Given the description of an element on the screen output the (x, y) to click on. 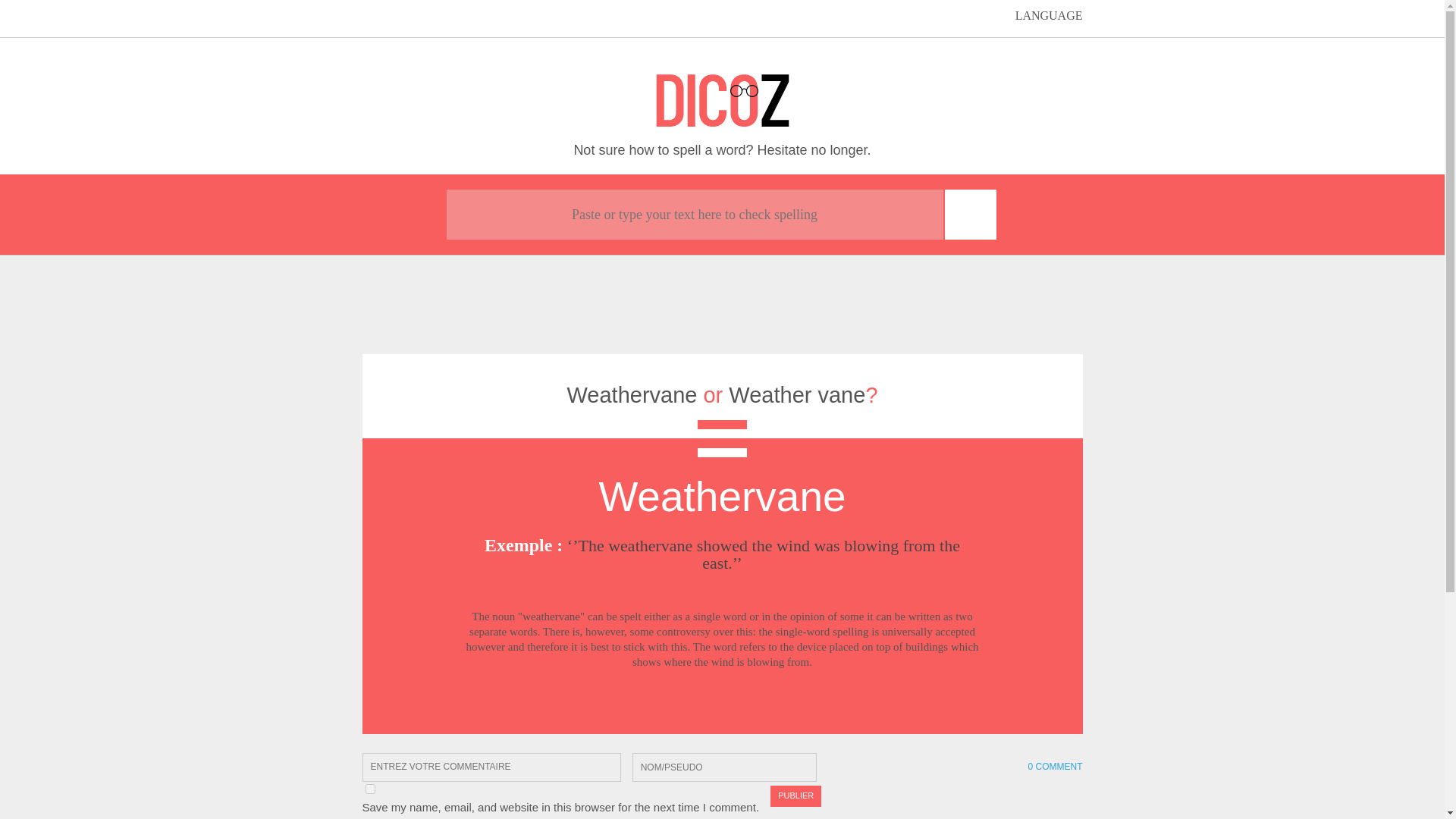
PUBLIER (795, 795)
LANGUAGE (1037, 15)
PUBLIER (795, 795)
yes (370, 788)
dicoz (722, 100)
